Given the description of an element on the screen output the (x, y) to click on. 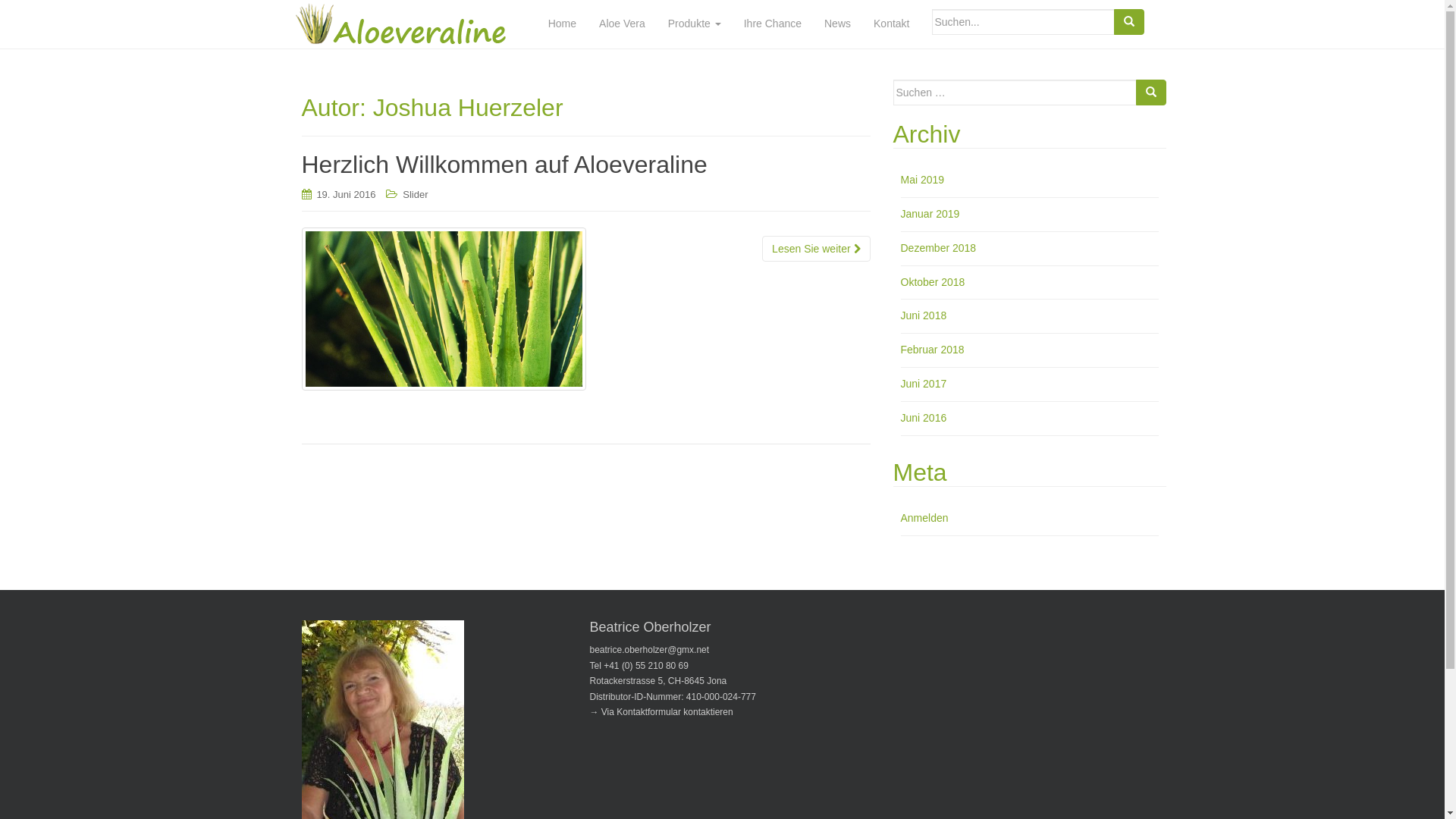
Februar 2018 Element type: text (932, 349)
Januar 2019 Element type: text (930, 213)
Herzlich Willkommen auf Aloeveraline Element type: text (504, 164)
Juni 2016 Element type: text (923, 417)
+41 (0) 55 210 80 69 Element type: text (645, 665)
Juni 2018 Element type: text (923, 315)
beatrice.oberholzer@gmx.net Element type: text (649, 649)
Lesen Sie weiter Element type: text (815, 248)
Mai 2019 Element type: text (922, 179)
19. Juni 2016 Element type: text (345, 194)
Oktober 2018 Element type: text (932, 282)
Juni 2017 Element type: text (923, 383)
Slider Element type: text (414, 194)
Search Element type: text (1128, 21)
Dezember 2018 Element type: text (938, 247)
Search Element type: text (1150, 92)
Anmelden Element type: text (924, 517)
